Given the description of an element on the screen output the (x, y) to click on. 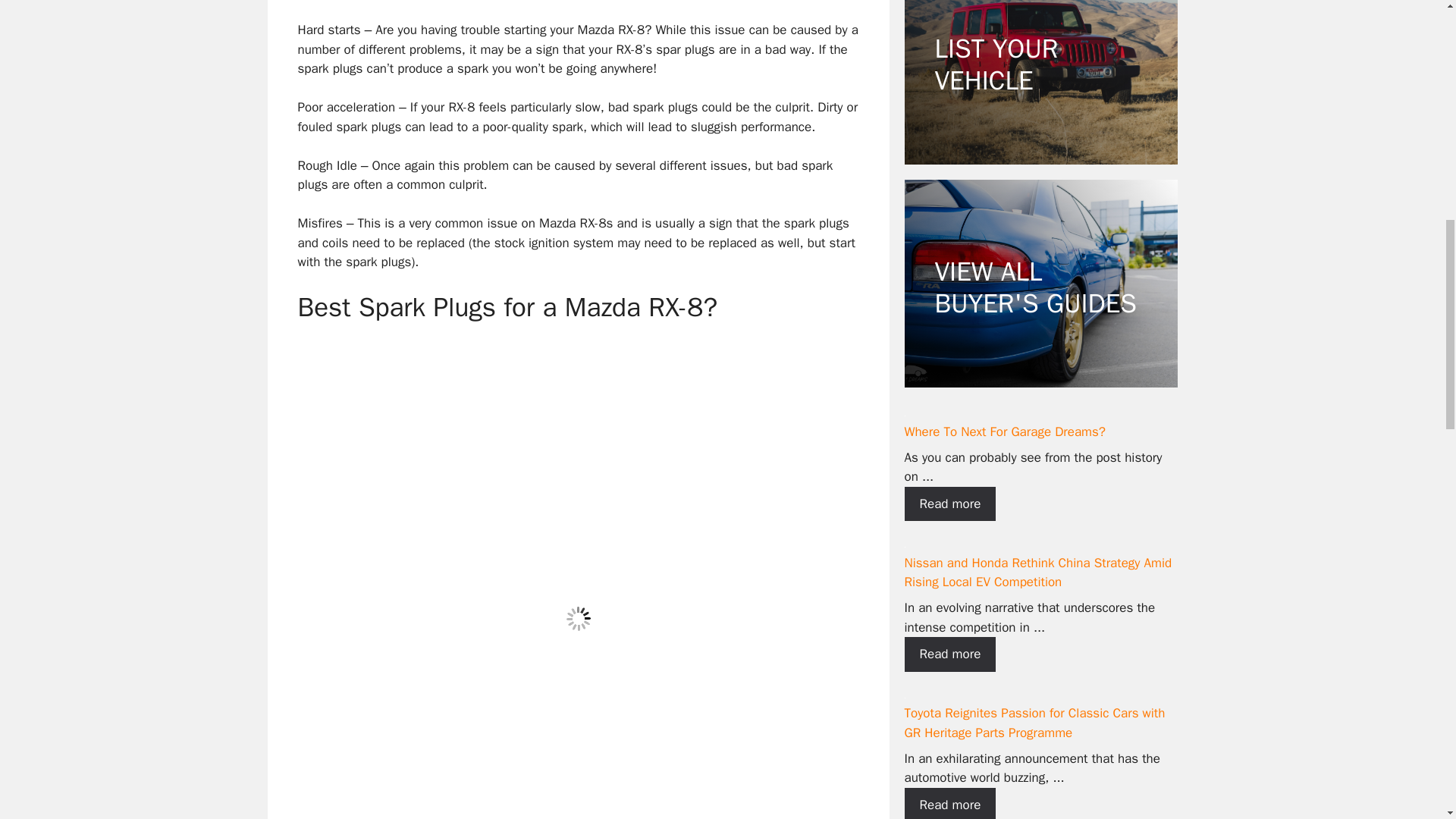
Where To Next For Garage Dreams? (949, 503)
